Given the description of an element on the screen output the (x, y) to click on. 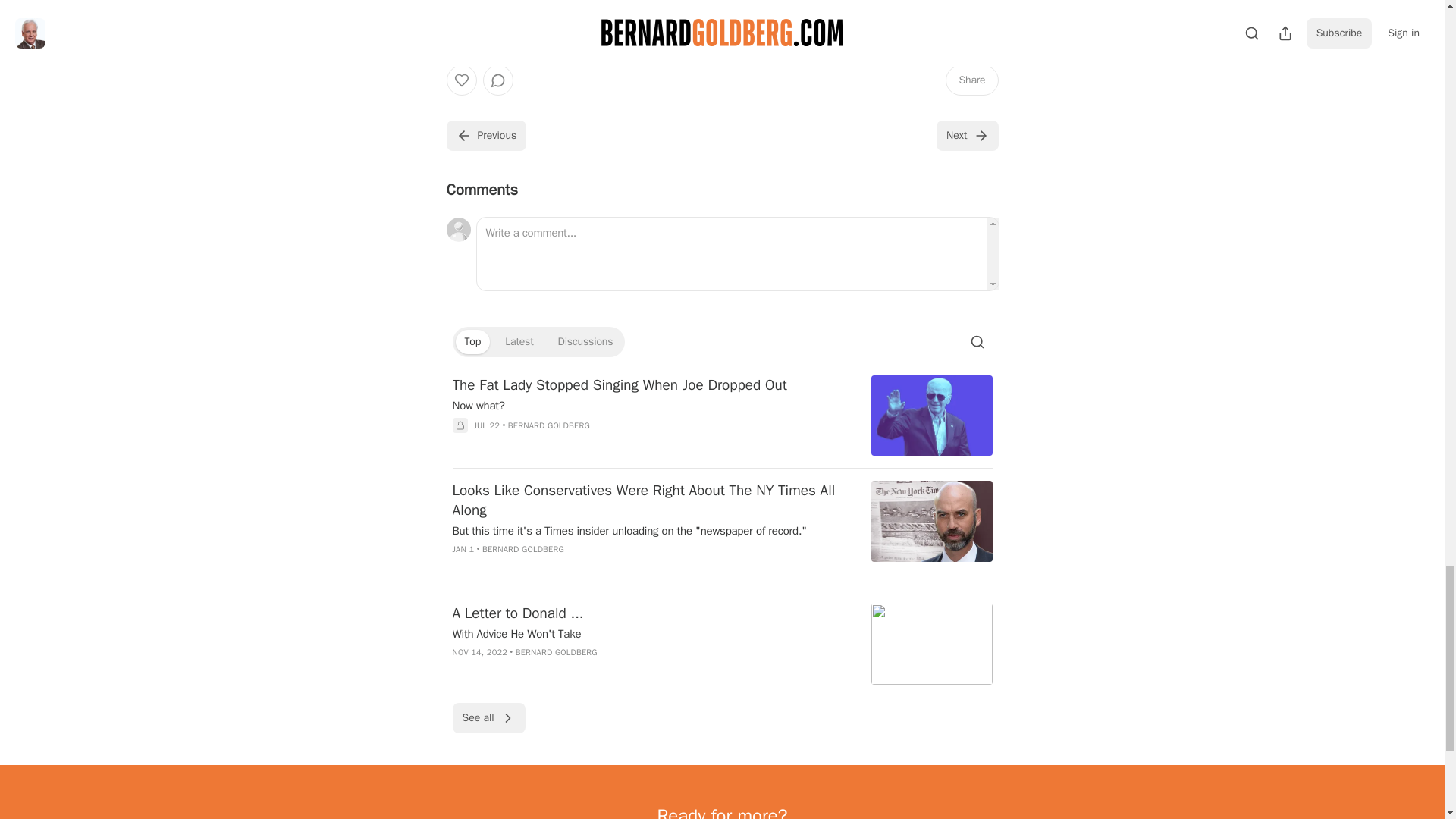
Subscribe (827, 13)
Share (970, 80)
Next (966, 135)
Top (471, 341)
Latest (518, 341)
Previous (485, 135)
